Given the description of an element on the screen output the (x, y) to click on. 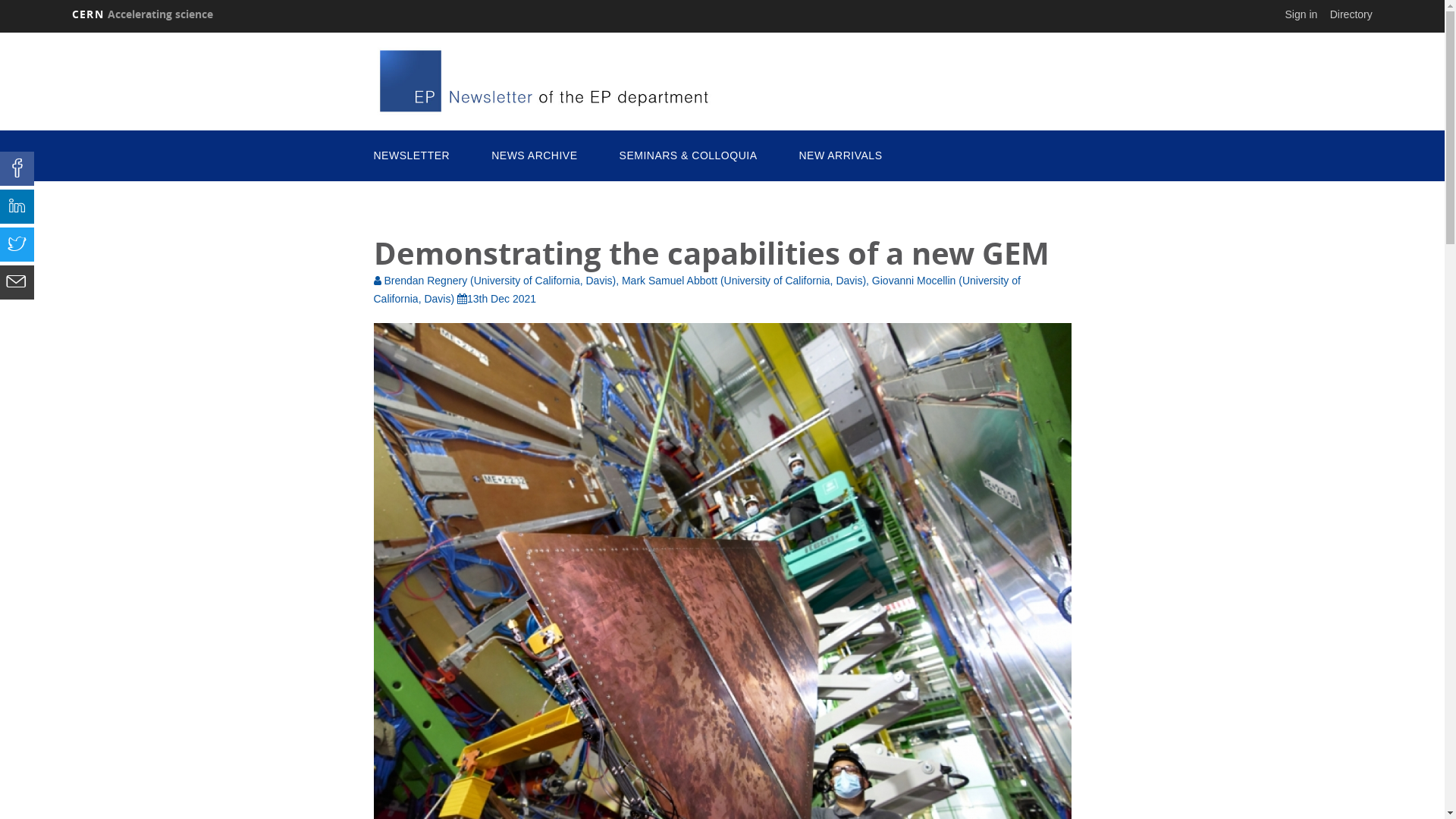
CERN Accelerating science Element type: text (142, 14)
Skip to main content Element type: text (0, 30)
Directory Element type: text (1351, 14)
NEWSLETTER Element type: text (411, 155)
Linkedin Element type: hover (17, 206)
Twitter Element type: hover (17, 244)
13th Dec 2021 Element type: text (496, 298)
Sign in Element type: text (1301, 14)
NEW ARRIVALS Element type: text (839, 155)
Email Element type: hover (17, 282)
SEMINARS & COLLOQUIA Element type: text (688, 155)
Facebook Element type: hover (17, 168)
NEWS ARCHIVE Element type: text (534, 155)
